Given the description of an element on the screen output the (x, y) to click on. 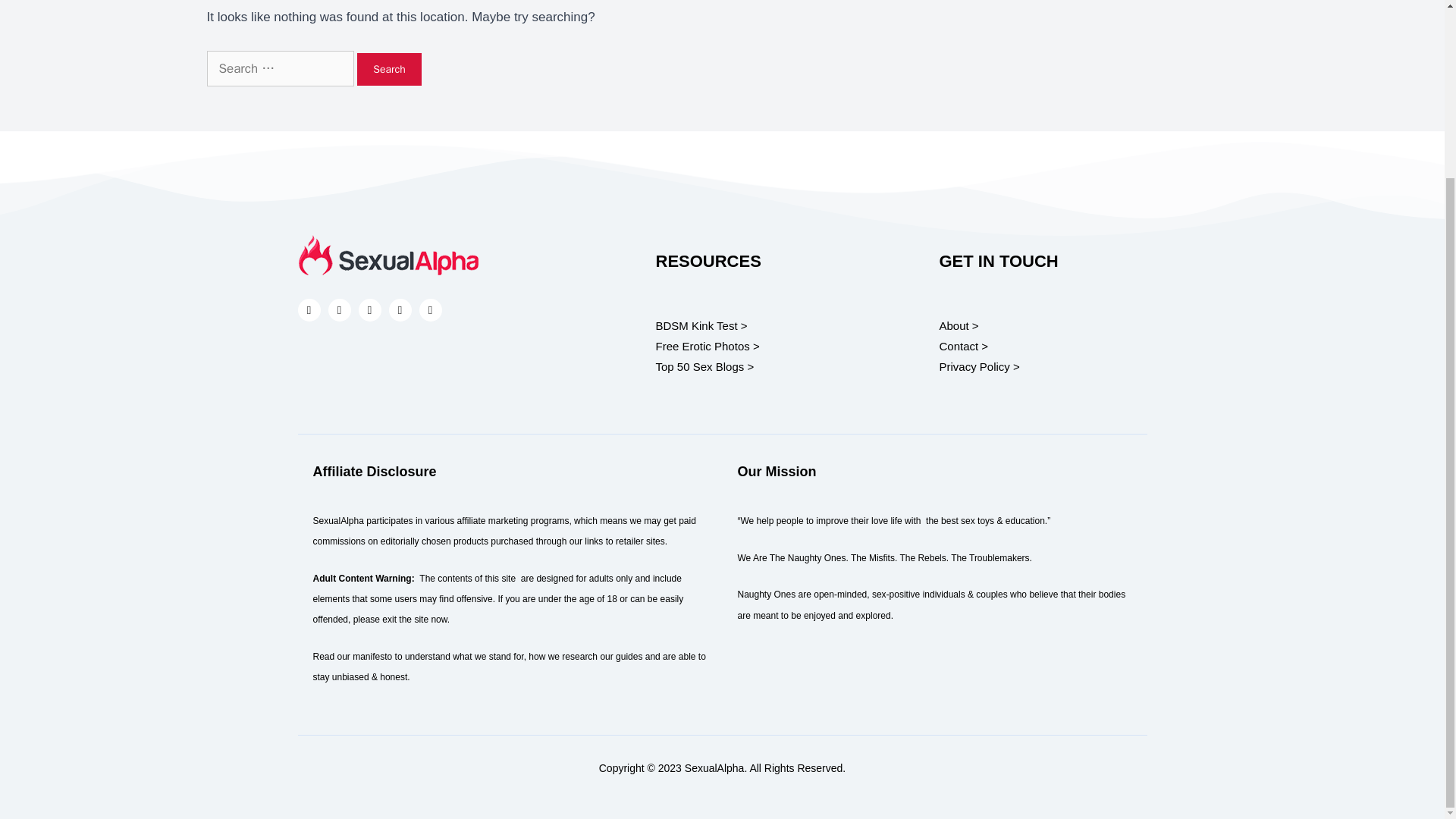
Search for: (279, 68)
Search (389, 69)
Search (389, 69)
